Given the description of an element on the screen output the (x, y) to click on. 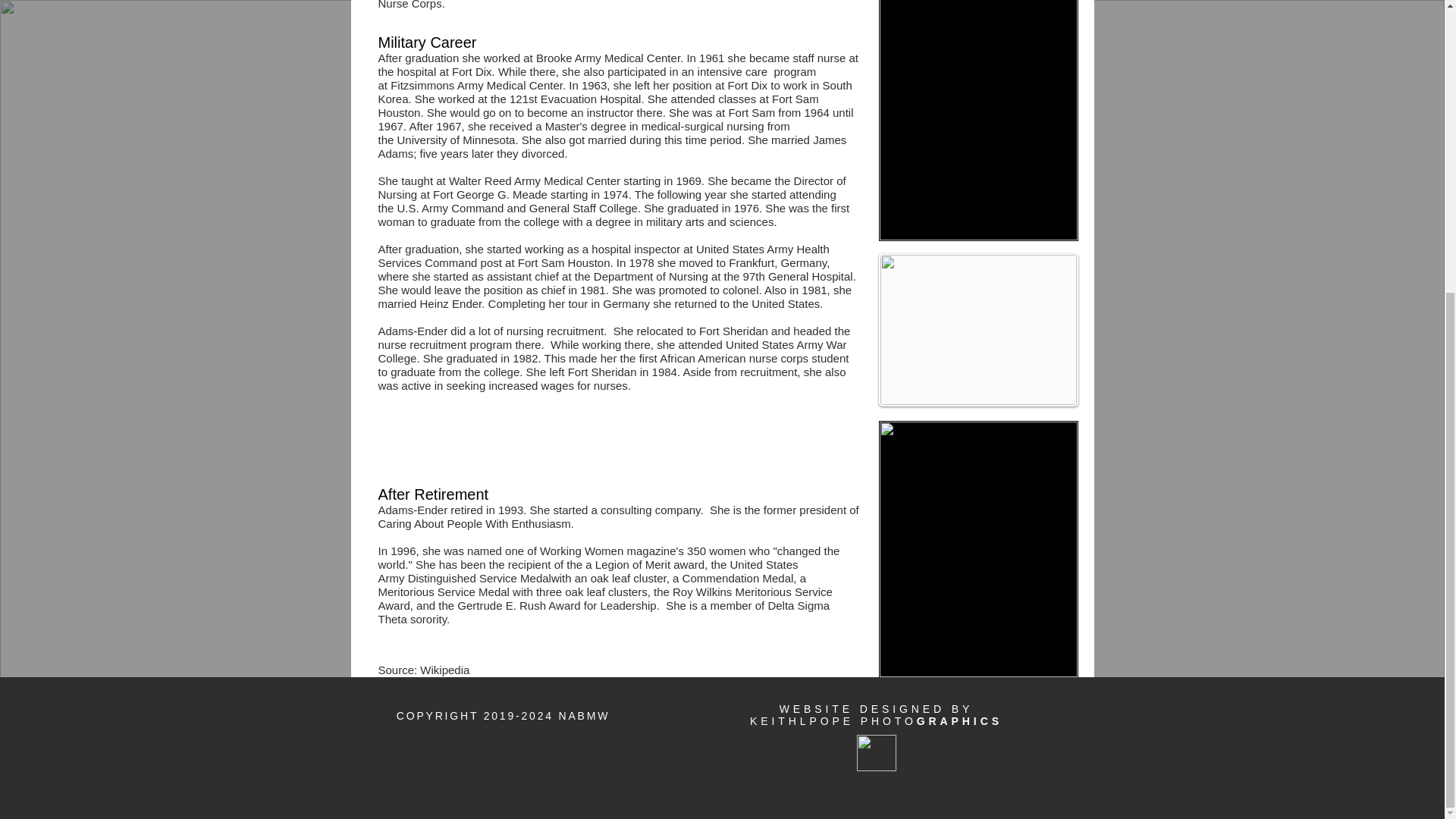
Brooke Army Medical Center (607, 57)
Fitzsimmons Army Medical Center (476, 84)
military arts and sciences (709, 221)
Fort George G. Meade (489, 194)
hospital (610, 248)
Fort Sam Houston (597, 105)
South Korea (614, 91)
United States Army Health Services Command (602, 255)
intensive care (732, 71)
United States Army Nurse Corps. (610, 4)
divorced (542, 153)
Master's degree (585, 125)
Walter Reed Army Medical Center (534, 180)
University of Minnesota (456, 139)
Fort Dix (471, 71)
